Given the description of an element on the screen output the (x, y) to click on. 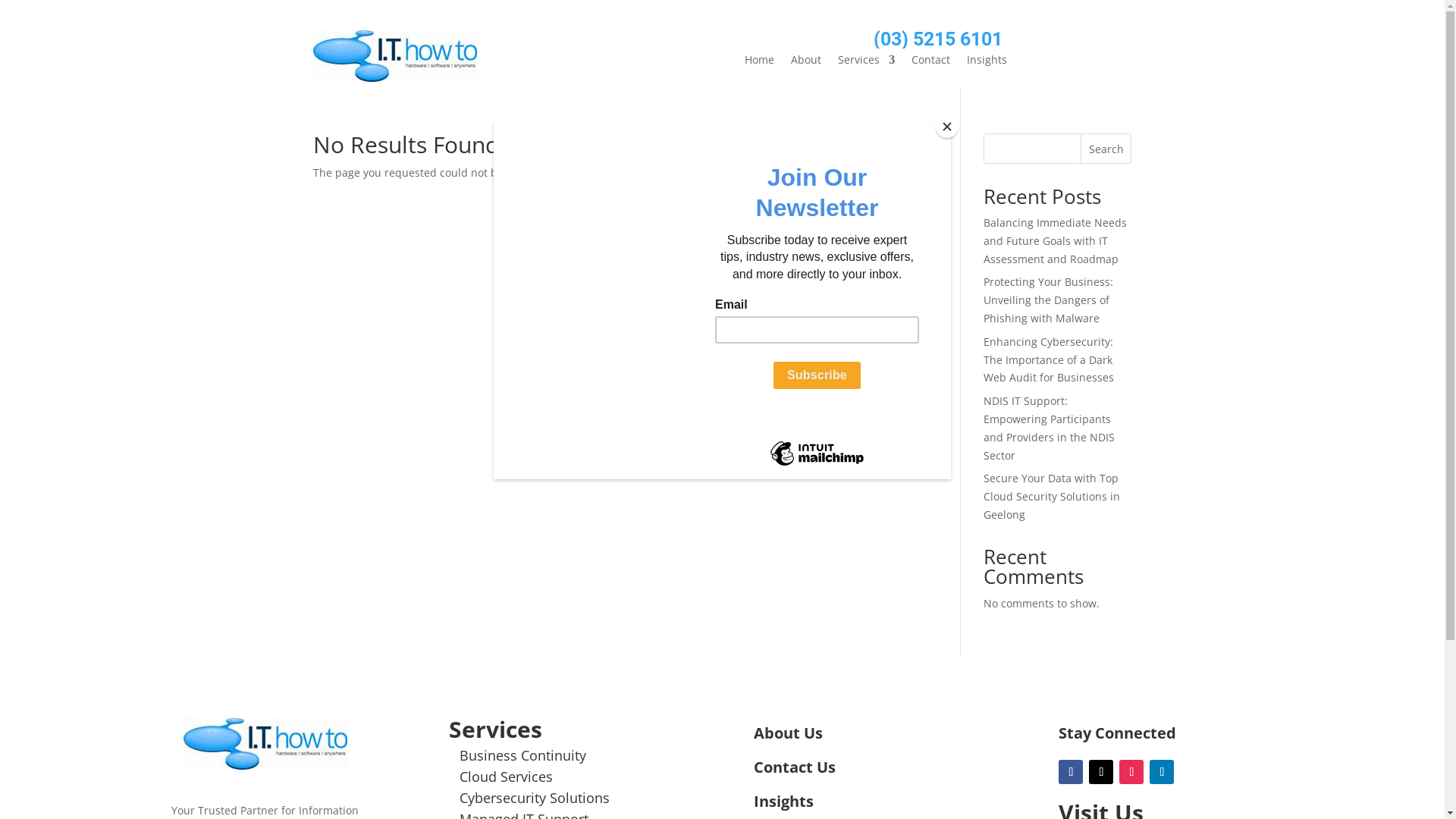
Cybersecurity Solutions Element type: text (534, 797)
Follow on LinkedIn Element type: hover (1161, 771)
About Element type: text (805, 62)
Cloud Services Element type: text (505, 776)
Insights Element type: text (986, 62)
Services Element type: text (865, 62)
Business Continuity Element type: text (522, 755)
Search Element type: text (1106, 148)
MicrosoftTeams-image Element type: hover (394, 55)
MicrosoftTeams-image Element type: hover (265, 743)
(03) 5215 6101 Element type: text (937, 39)
Home Element type: text (759, 62)
Follow on X Element type: hover (1100, 771)
Contact Element type: text (930, 62)
Follow on Facebook Element type: hover (1070, 771)
Follow on Instagram Element type: hover (1131, 771)
